Given the description of an element on the screen output the (x, y) to click on. 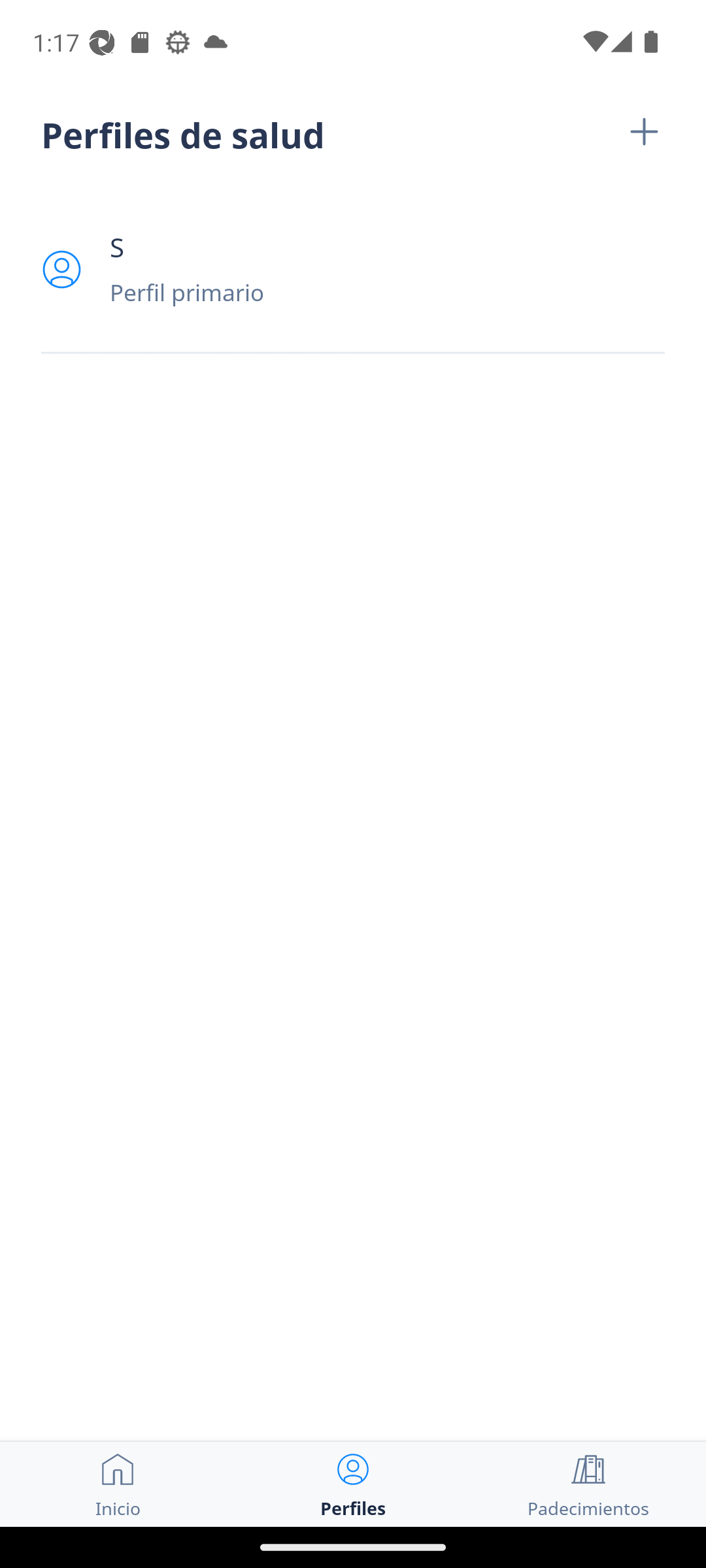
S Perfil primario (352, 269)
Inicio (117, 1484)
Perfiles (352, 1484)
Padecimientos (588, 1484)
